Given the description of an element on the screen output the (x, y) to click on. 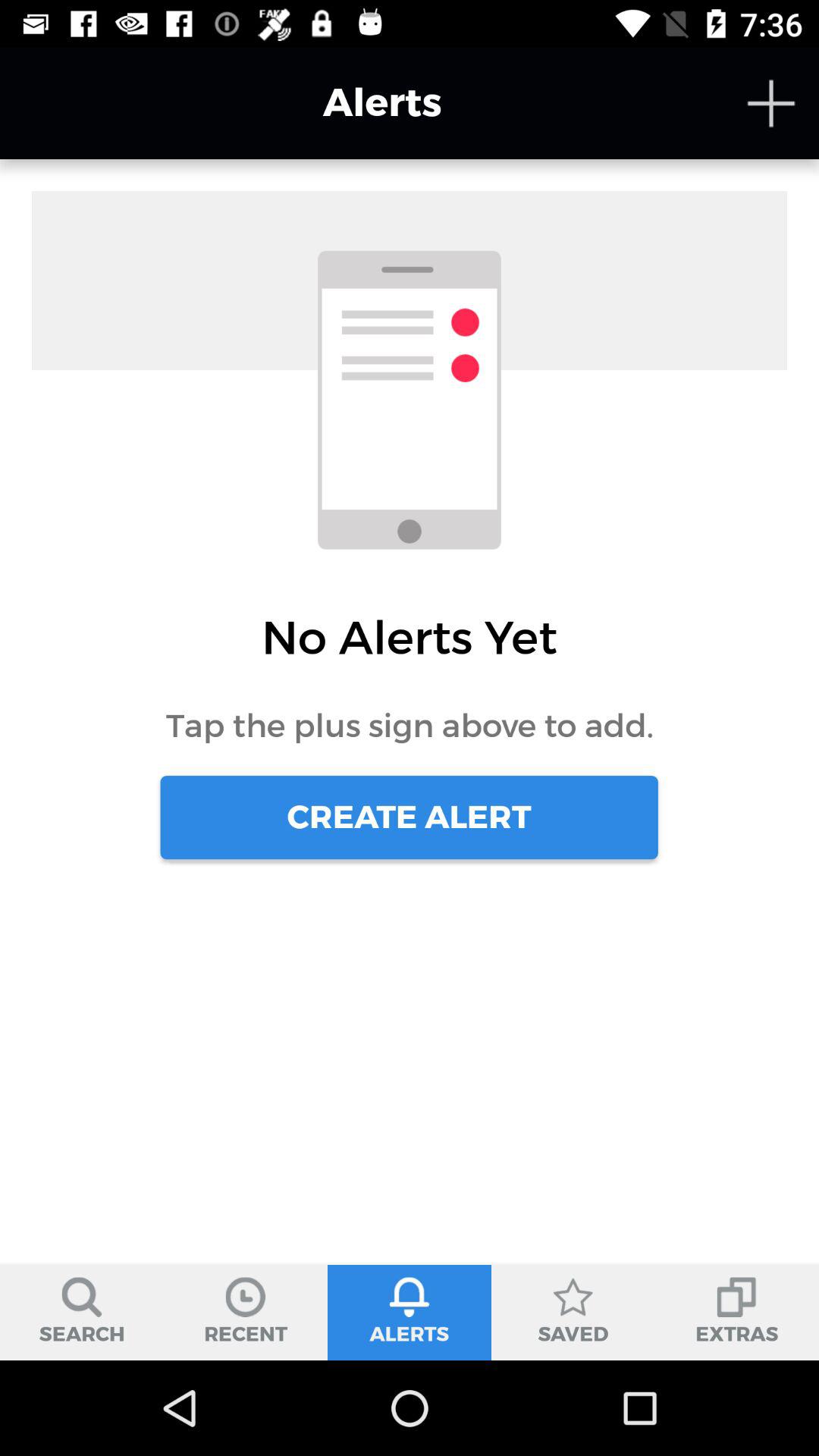
tap the create alert (409, 817)
